Given the description of an element on the screen output the (x, y) to click on. 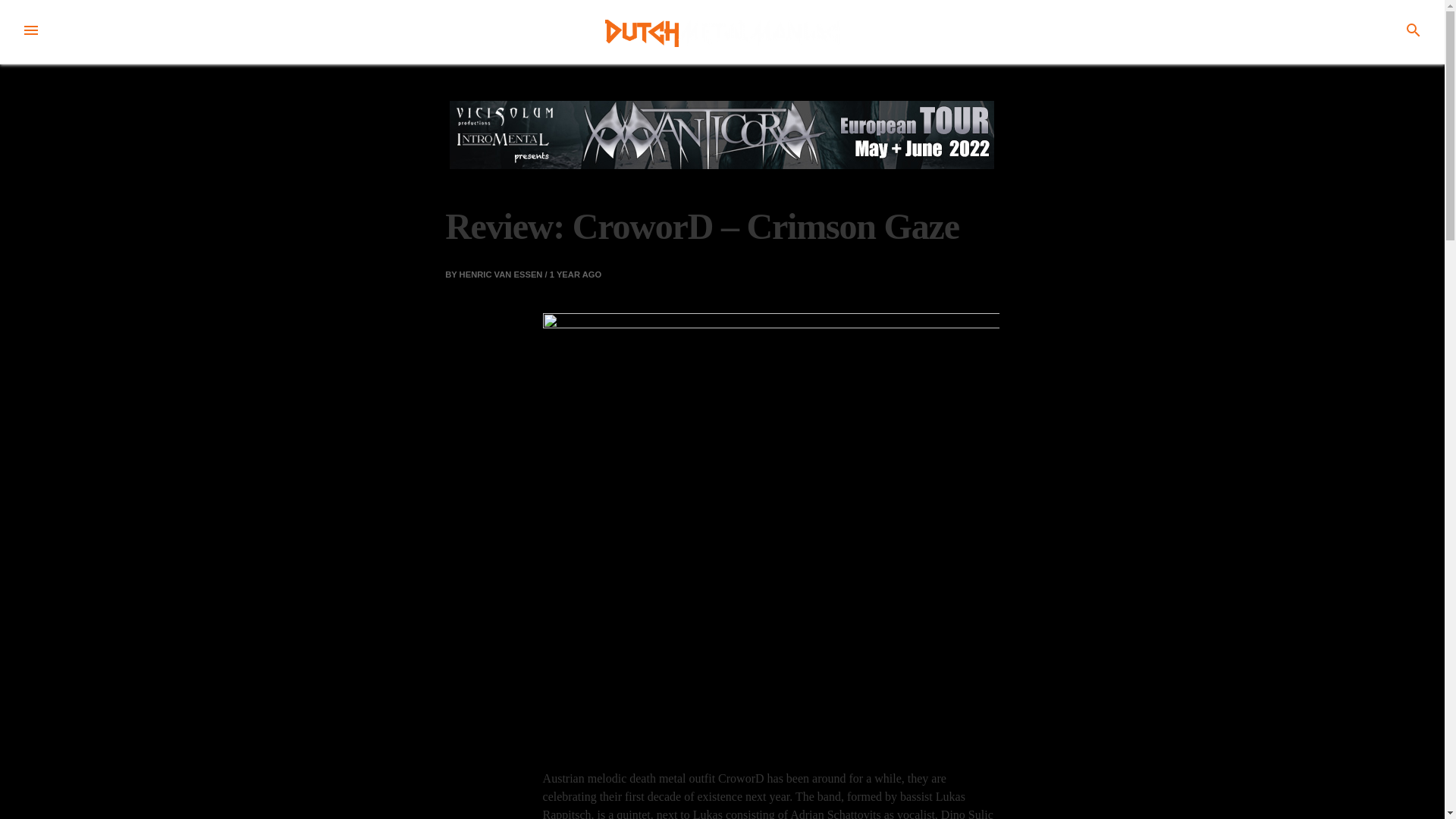
1 YEAR (564, 274)
ALBUM REVIEWS (491, 181)
SEARCH (1413, 31)
MENU (30, 31)
HENRIC VAN ESSEN (501, 274)
